Given the description of an element on the screen output the (x, y) to click on. 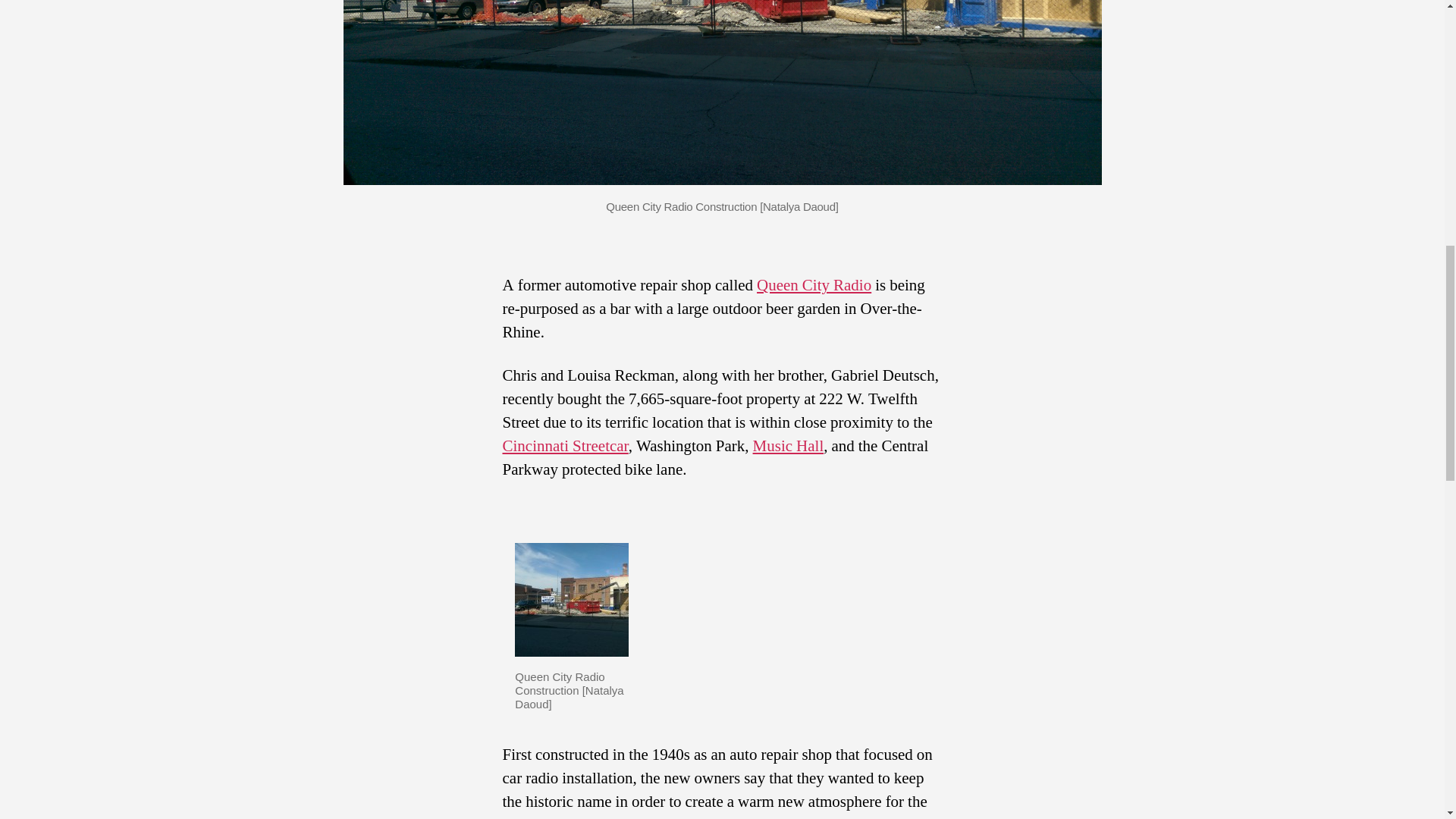
Queen City Radio (813, 285)
Cincinnati Streetcar (564, 445)
Music Hall (788, 445)
